Given the description of an element on the screen output the (x, y) to click on. 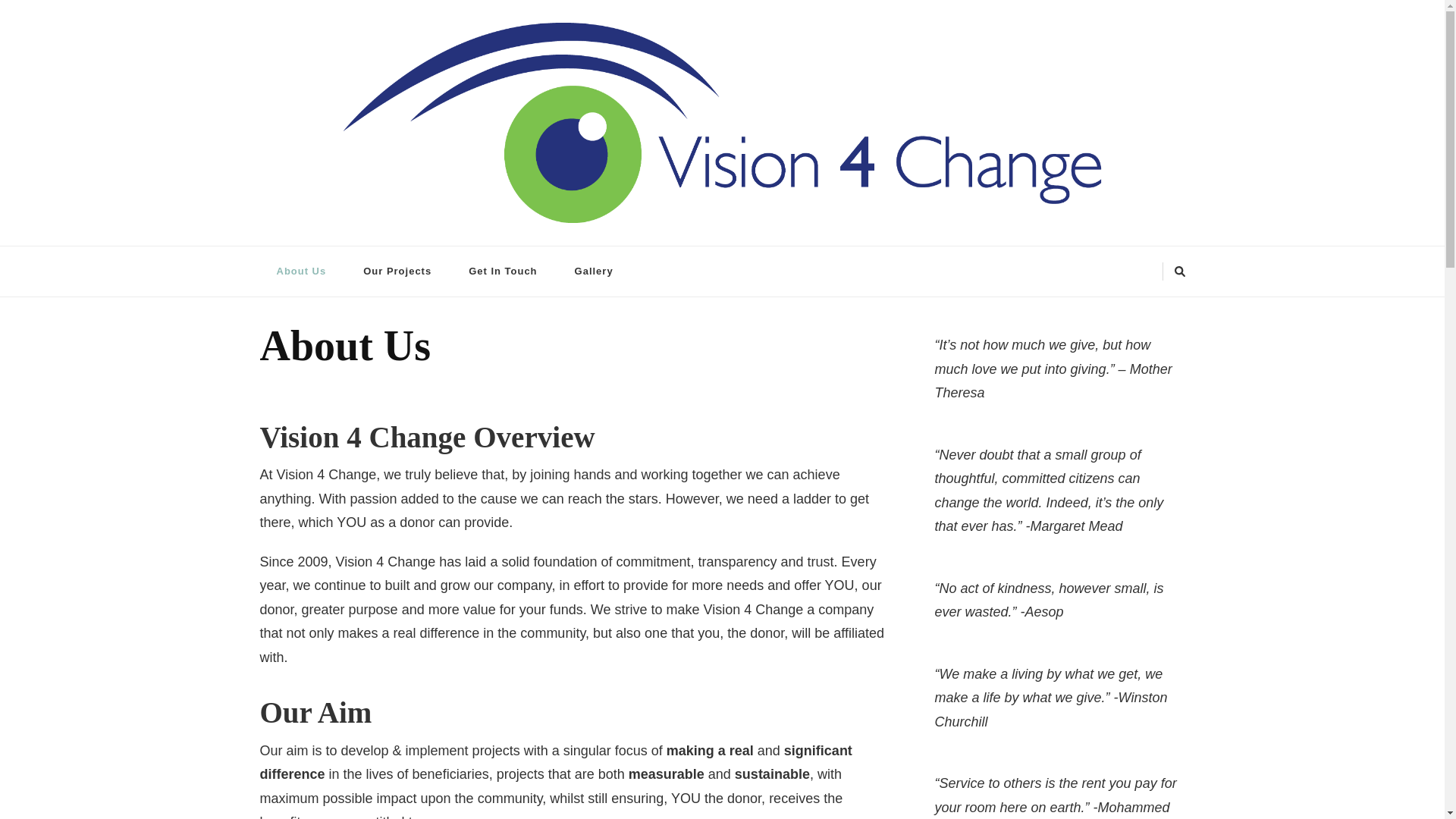
Vision 4 Change (338, 237)
Our Projects (397, 271)
About Us (300, 271)
Search (1155, 274)
Gallery (593, 271)
Get In Touch (502, 271)
